Given the description of an element on the screen output the (x, y) to click on. 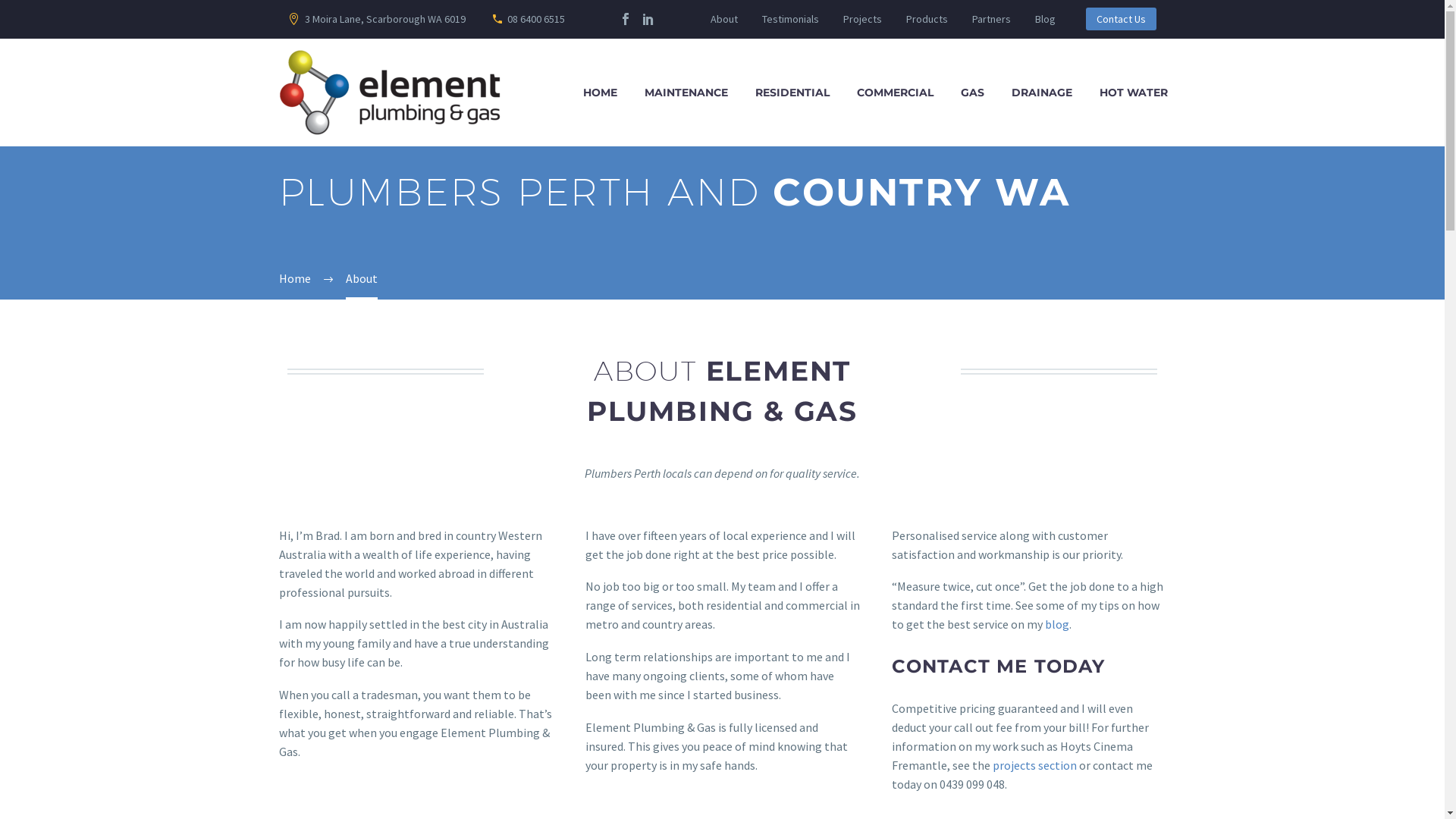
GAS Element type: text (972, 92)
RESIDENTIAL Element type: text (791, 92)
Testimonials Element type: text (789, 18)
Contact Us Element type: text (1120, 18)
08 6400 6515 Element type: text (535, 18)
Partners Element type: text (990, 18)
Projects Element type: text (861, 18)
COMMERCIAL Element type: text (894, 92)
HOME Element type: text (599, 92)
MAINTENANCE Element type: text (685, 92)
HOT WATER Element type: text (1132, 92)
DRAINAGE Element type: text (1040, 92)
Home Element type: text (294, 277)
Blog Element type: text (1044, 18)
LinkedIn Element type: hover (648, 18)
About Element type: text (723, 18)
projects section Element type: text (1033, 764)
Facebook Element type: hover (625, 18)
blog Element type: text (1056, 623)
Products Element type: text (925, 18)
